Given the description of an element on the screen output the (x, y) to click on. 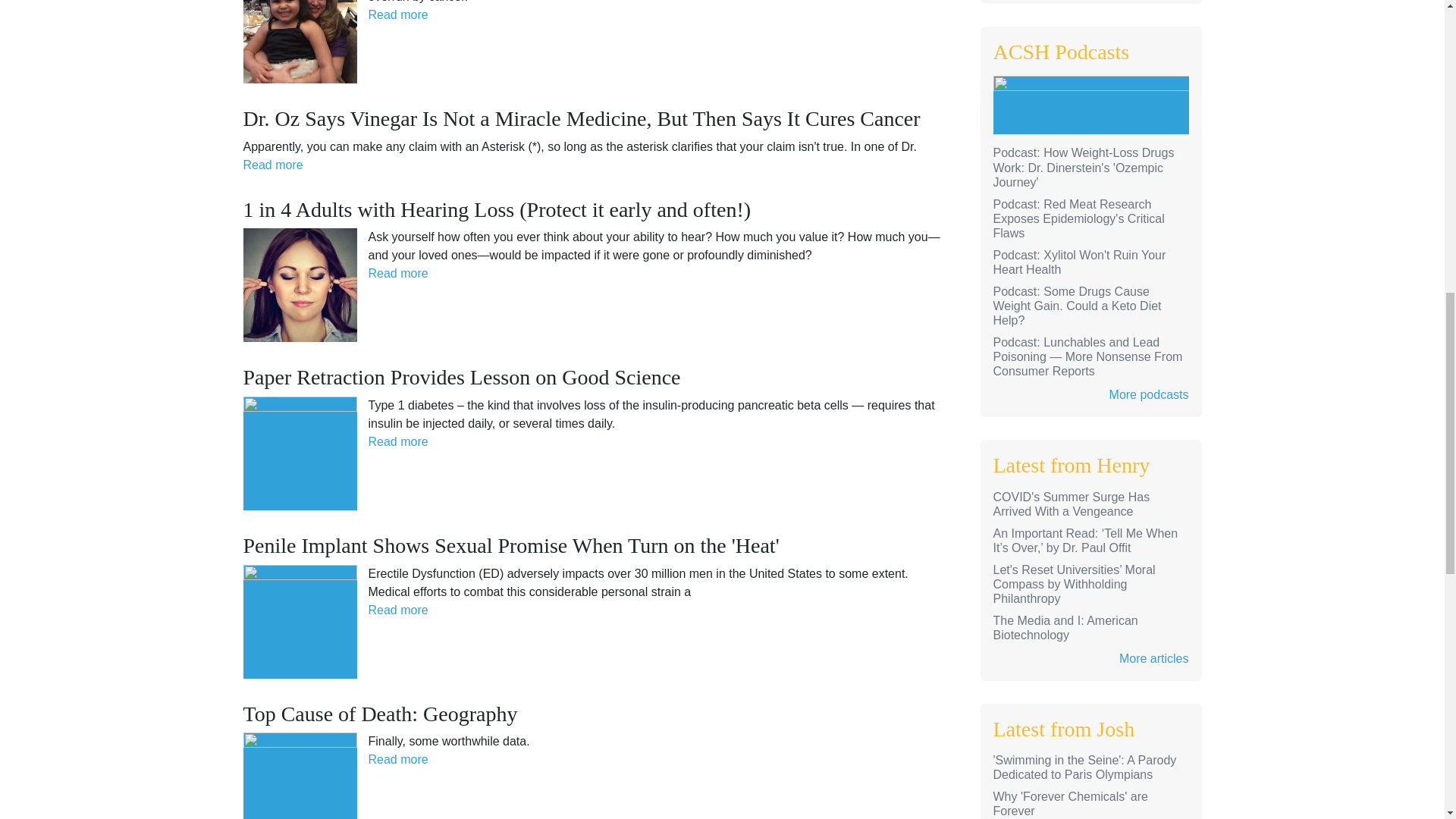
Read more (398, 14)
Read more (272, 164)
